Given the description of an element on the screen output the (x, y) to click on. 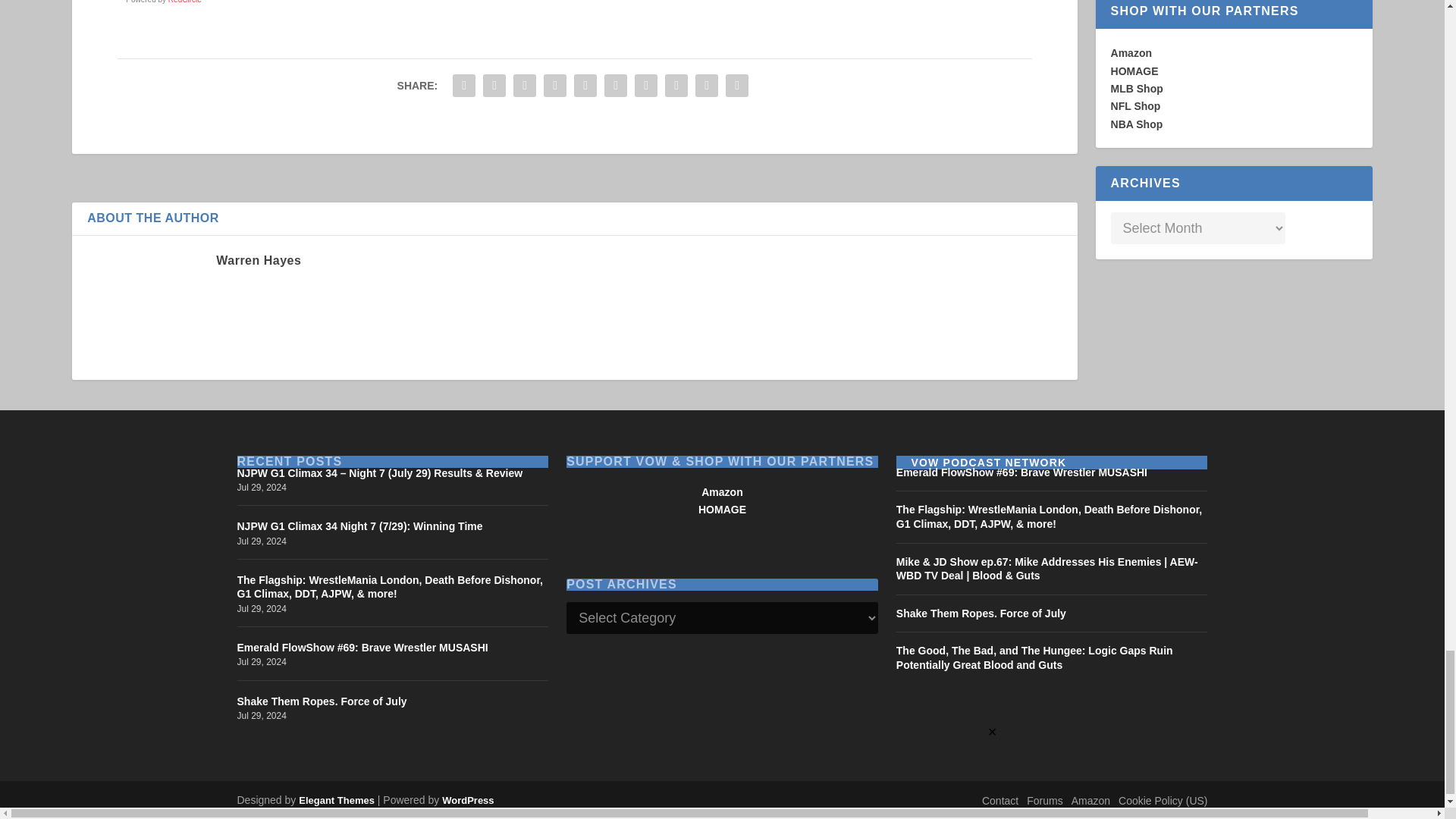
Share "Just Hate MJF. Go Ahead." via Email (706, 85)
Share "Just Hate MJF. Go Ahead." via Tumblr (555, 85)
Share "Just Hate MJF. Go Ahead." via Stumbleupon (676, 85)
Share "Just Hate MJF. Go Ahead." via Pinterest (584, 85)
Share "Just Hate MJF. Go Ahead." via Facebook (463, 85)
Share "Just Hate MJF. Go Ahead." via Twitter (494, 85)
Share "Just Hate MJF. Go Ahead." via Print (737, 85)
Share "Just Hate MJF. Go Ahead." via LinkedIn (614, 85)
Share "Just Hate MJF. Go Ahead." via Buffer (645, 85)
